Given the description of an element on the screen output the (x, y) to click on. 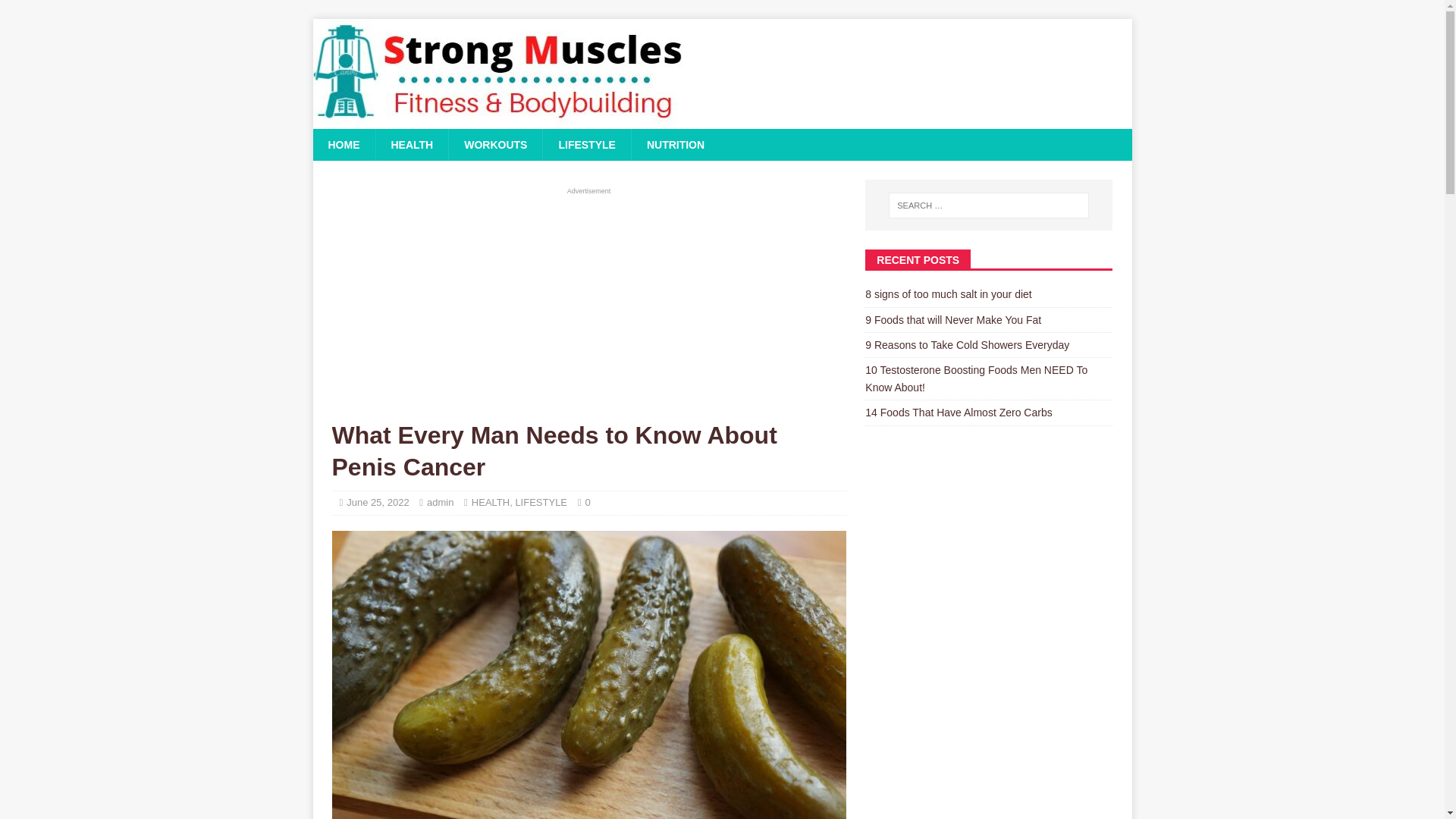
HEALTH (411, 144)
Search (56, 11)
Advertisement (588, 303)
10 Testosterone Boosting Foods Men NEED To Know About! (975, 378)
June 25, 2022 (377, 501)
9 Foods that will Never Make You Fat (952, 319)
WORKOUTS (494, 144)
Strong Muscles (499, 120)
NUTRITION (674, 144)
14 Foods That Have Almost Zero Carbs (957, 412)
LIFESTYLE (585, 144)
HEALTH (490, 501)
admin (439, 501)
HOME (343, 144)
